Given the description of an element on the screen output the (x, y) to click on. 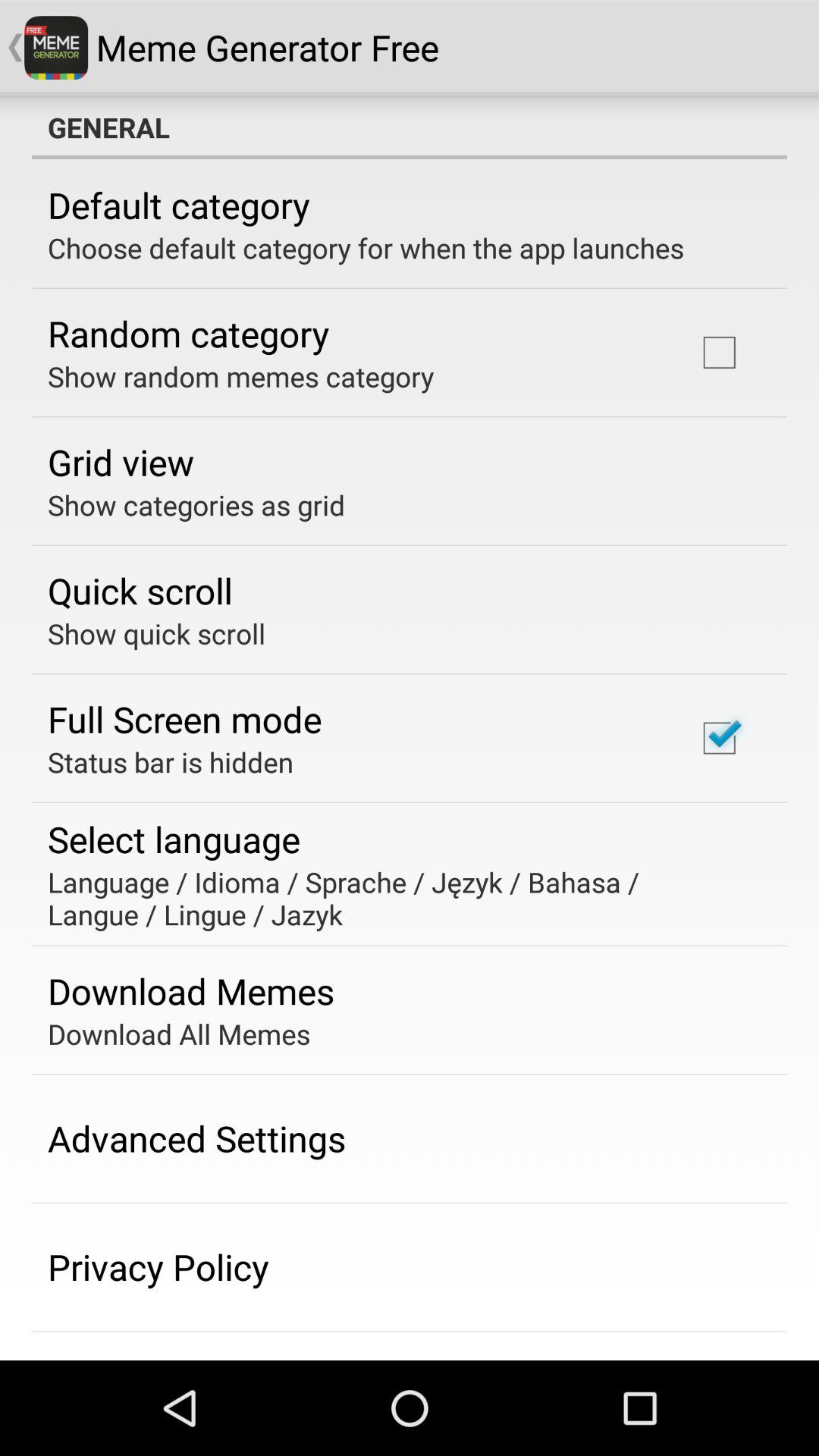
scroll until full screen mode (184, 719)
